Given the description of an element on the screen output the (x, y) to click on. 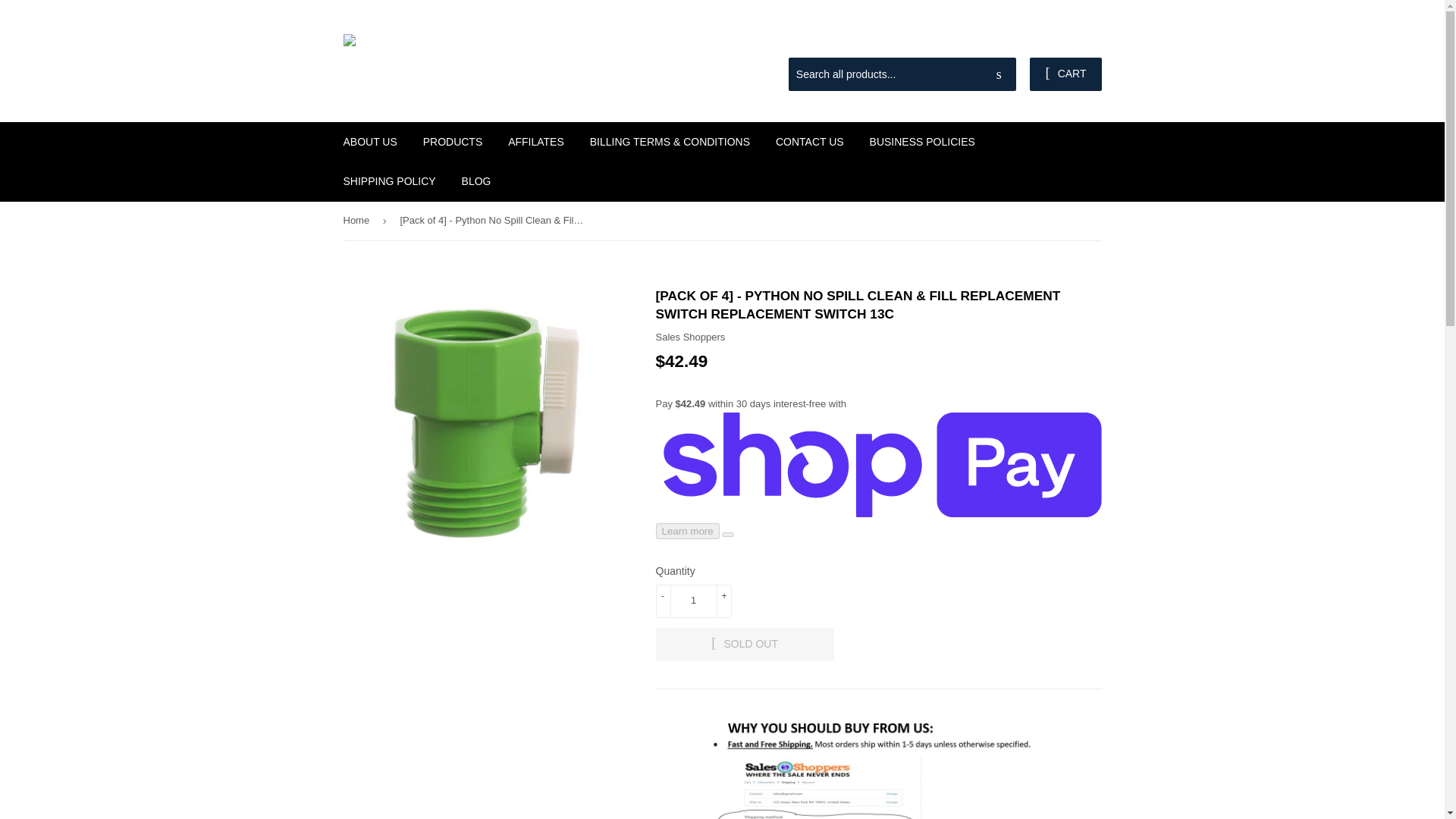
SHIPPING POLICY (388, 180)
1 (692, 601)
AFFILATES (535, 141)
ABOUT US (370, 141)
BUSINESS POLICIES (923, 141)
Search (998, 74)
BLOG (475, 180)
PRODUCTS (453, 141)
Sign in (993, 38)
Create an Account (1063, 38)
